Given the description of an element on the screen output the (x, y) to click on. 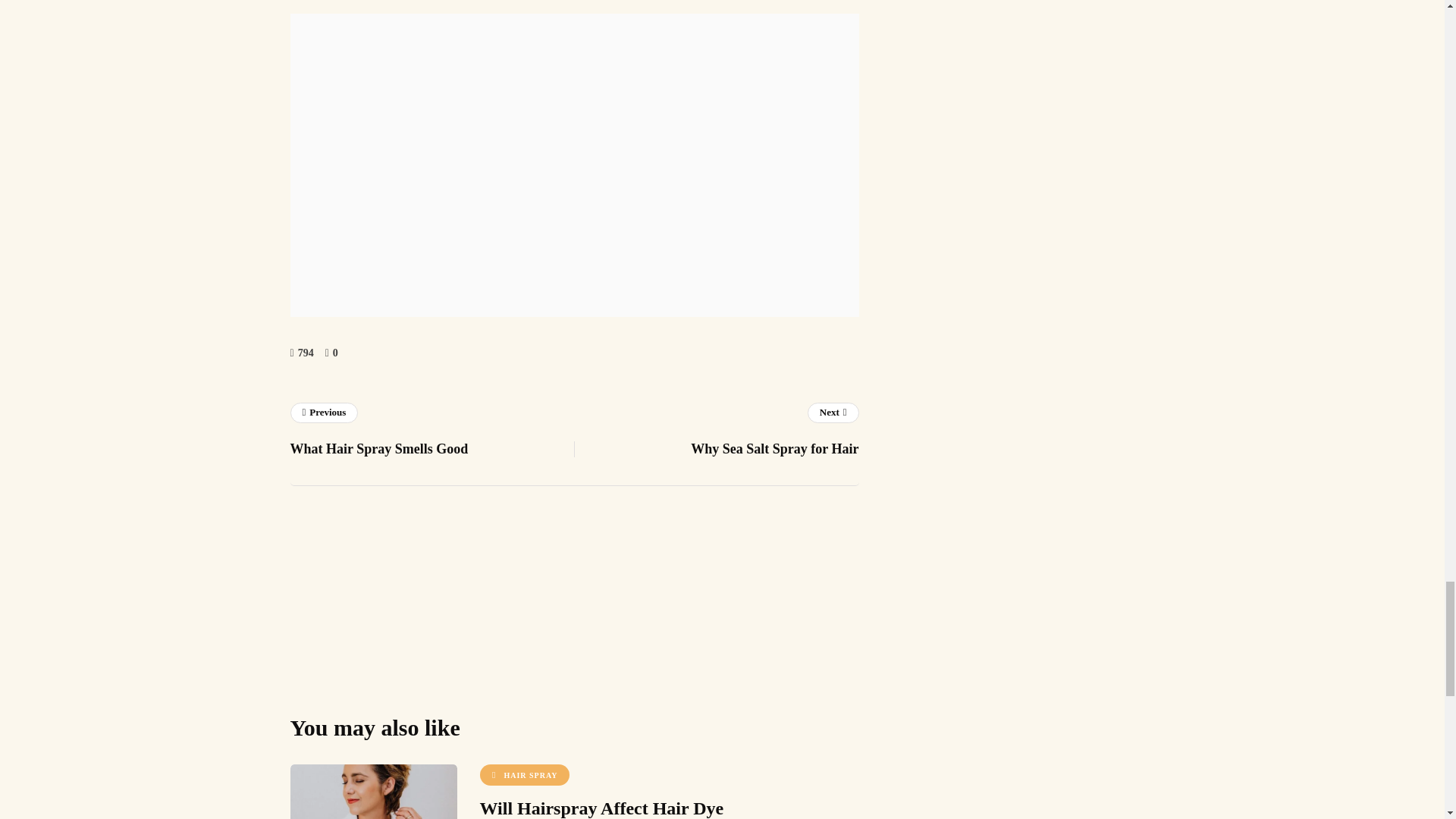
HAIR SPRAY (431, 431)
Will Hairspray Affect Hair Dye (524, 774)
